Given the description of an element on the screen output the (x, y) to click on. 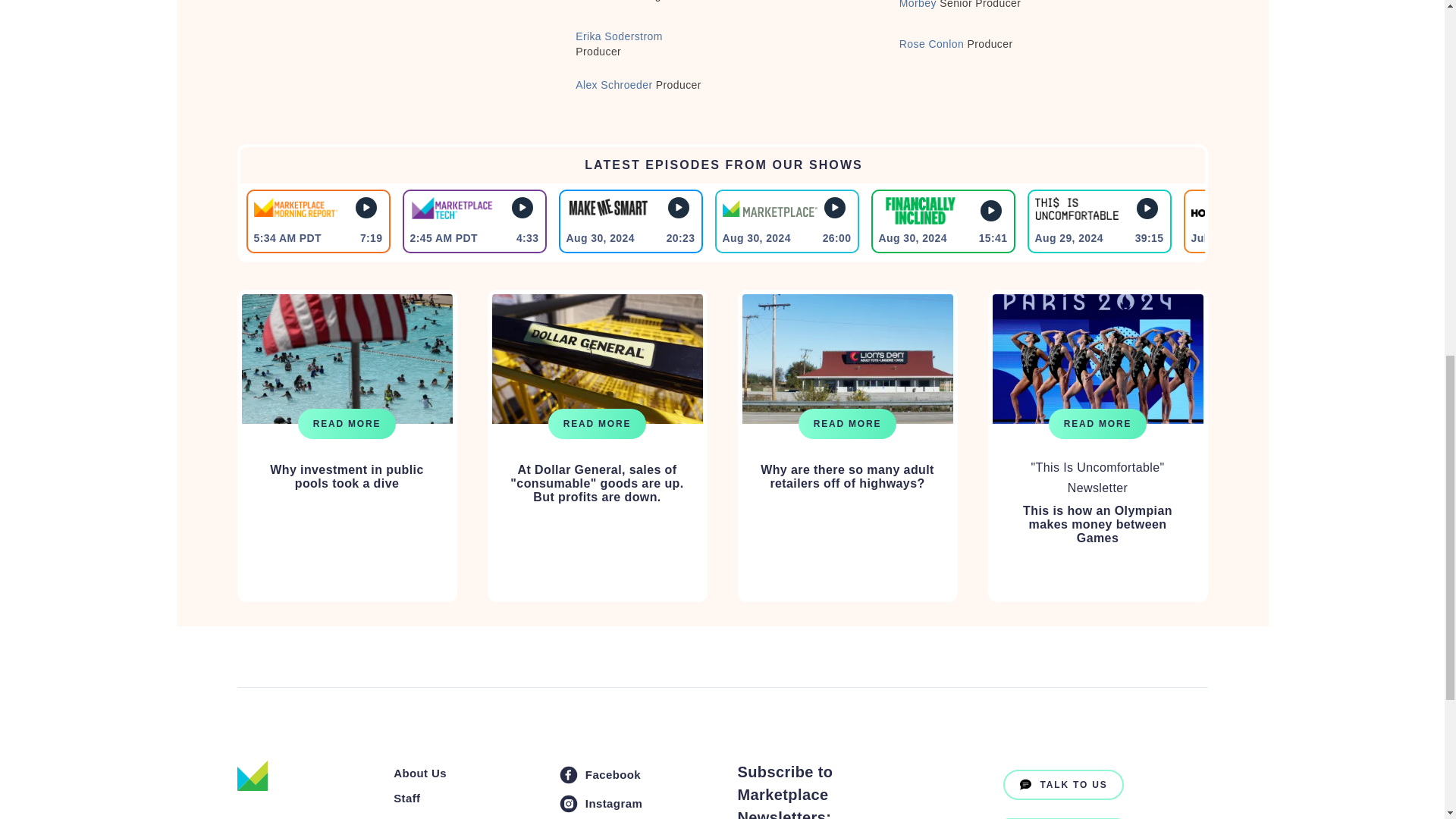
Listen Now (521, 207)
Marketplace Tech (451, 208)
Listen Now (365, 207)
Marketplace Morning Report (294, 207)
Make Me Smart (607, 207)
Listen Now (677, 207)
